Given the description of an element on the screen output the (x, y) to click on. 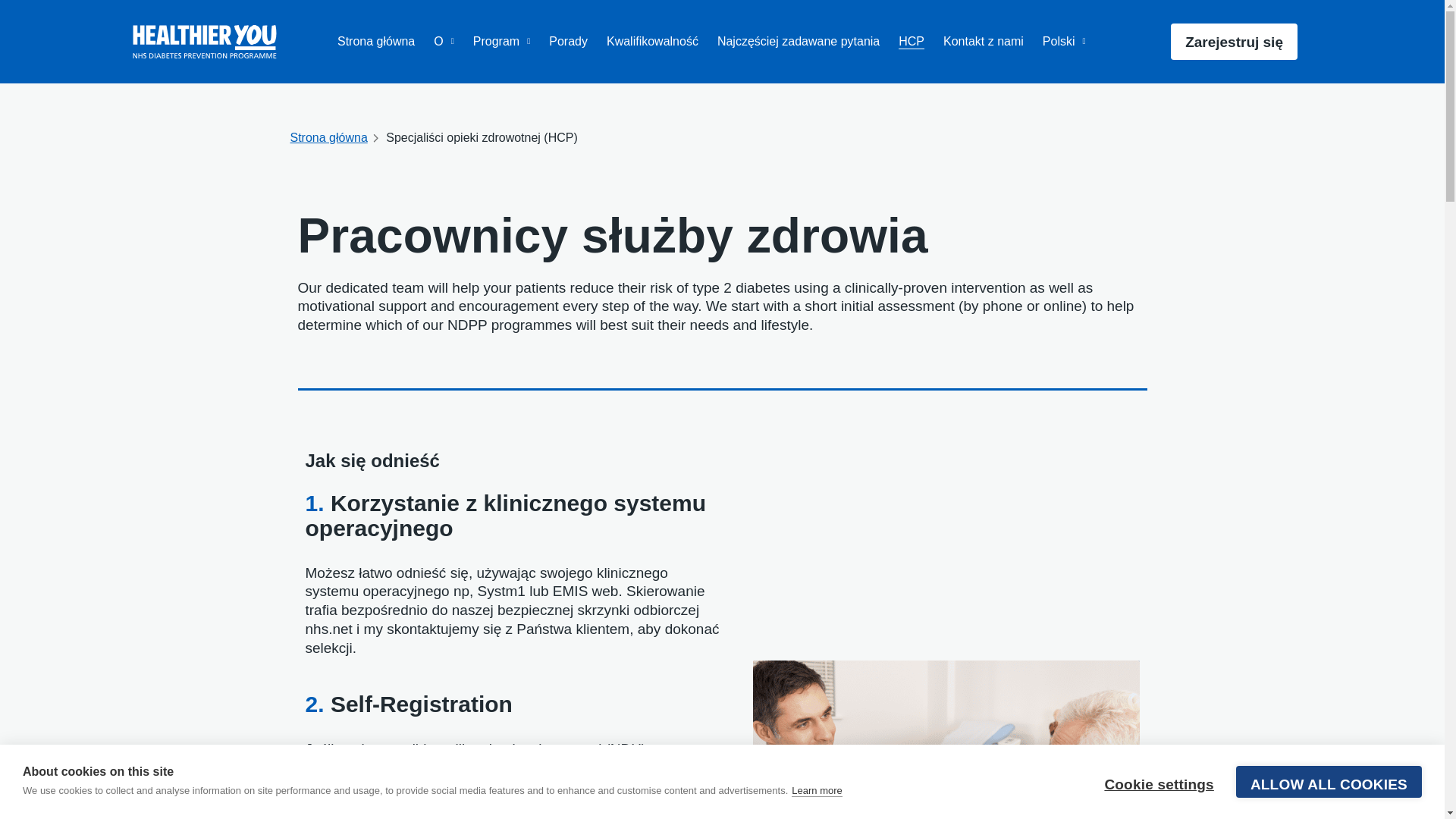
Program (501, 41)
O (443, 41)
HCP (911, 41)
Polski (1064, 41)
ALLOW ALL COOKIES (1329, 789)
Learn more (816, 809)
Porady (568, 41)
Cookie settings (1158, 793)
Polski (1064, 41)
Kontakt z nami (983, 41)
